Given the description of an element on the screen output the (x, y) to click on. 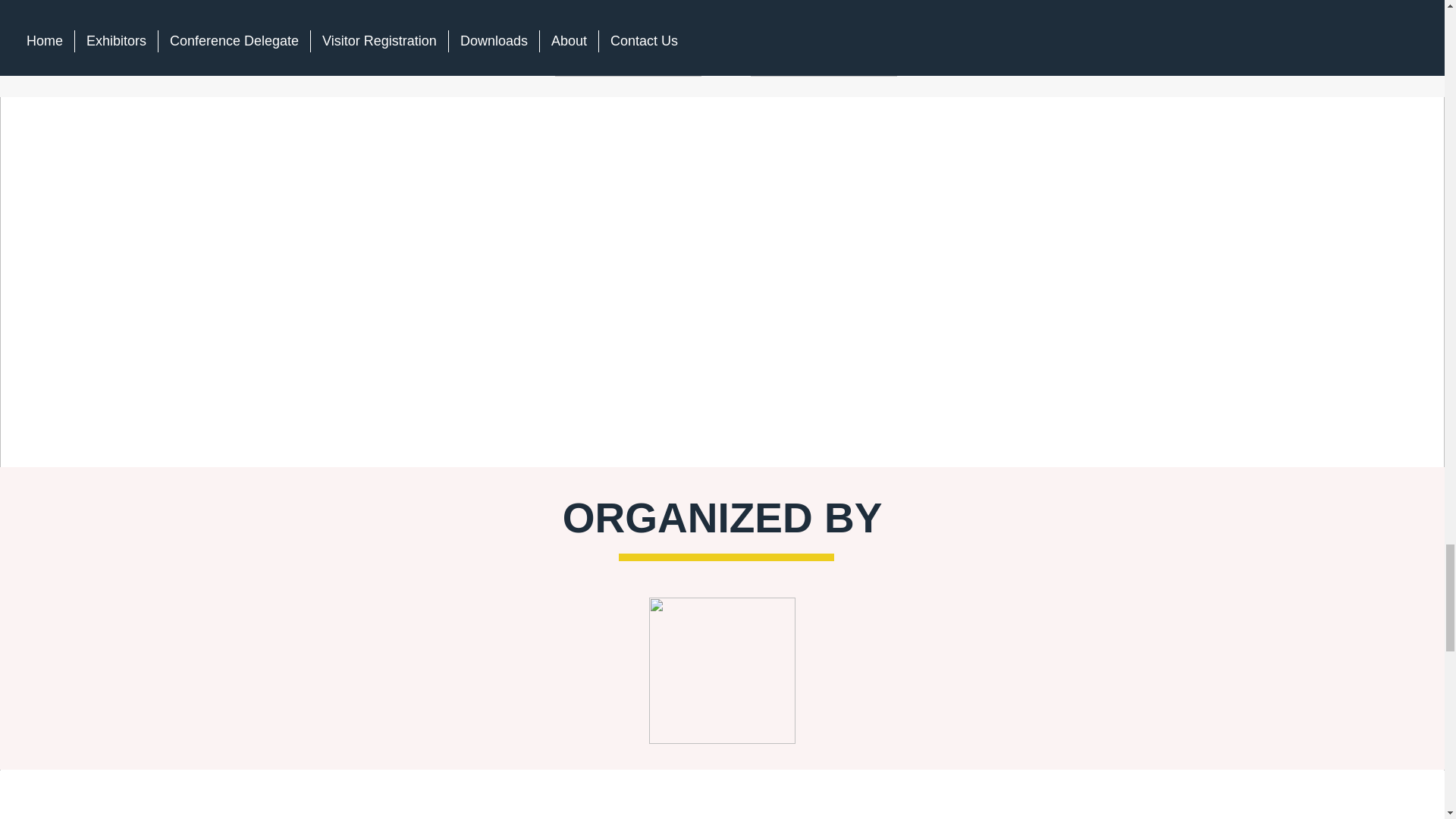
Eye (721, 670)
